Given the description of an element on the screen output the (x, y) to click on. 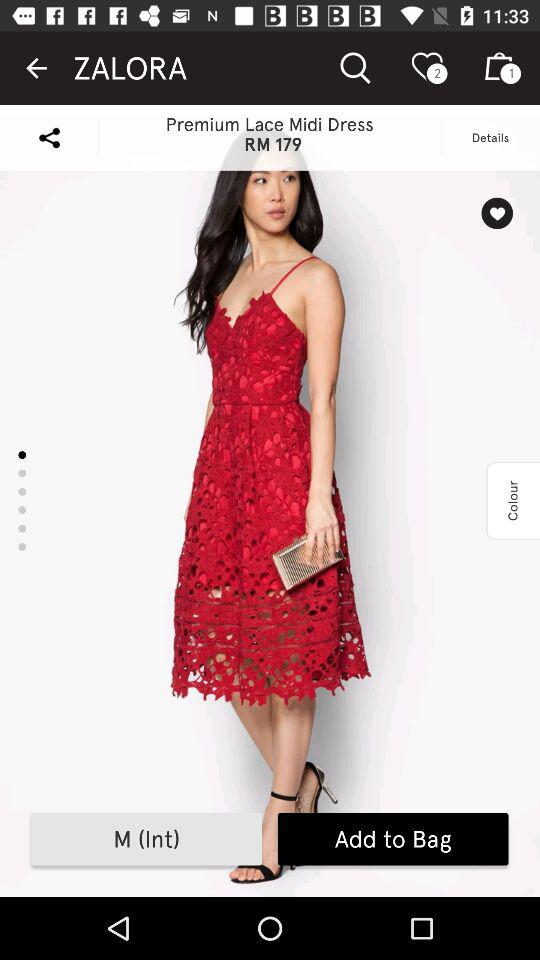
open the item above colour item (496, 213)
